Given the description of an element on the screen output the (x, y) to click on. 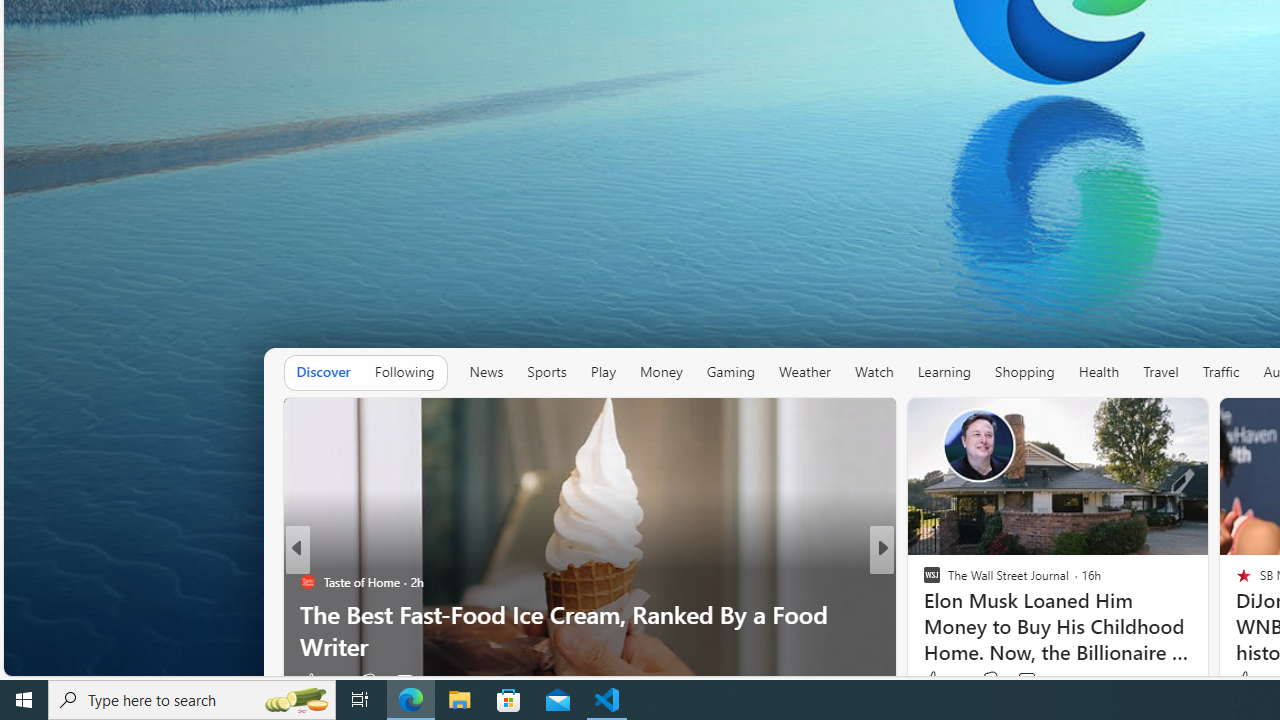
Fadeaway World (923, 581)
View comments 116 Comment (1026, 679)
GOBankingRates (923, 581)
View comments 10 Comment (1014, 681)
Gaming (730, 372)
Learning (944, 371)
Sports (546, 372)
View comments 62 Comment (1029, 681)
Shopping (1025, 372)
Health (1099, 371)
View comments 5 Comment (1019, 681)
Gaming (730, 371)
193 Like (936, 681)
Traffic (1220, 371)
